Given the description of an element on the screen output the (x, y) to click on. 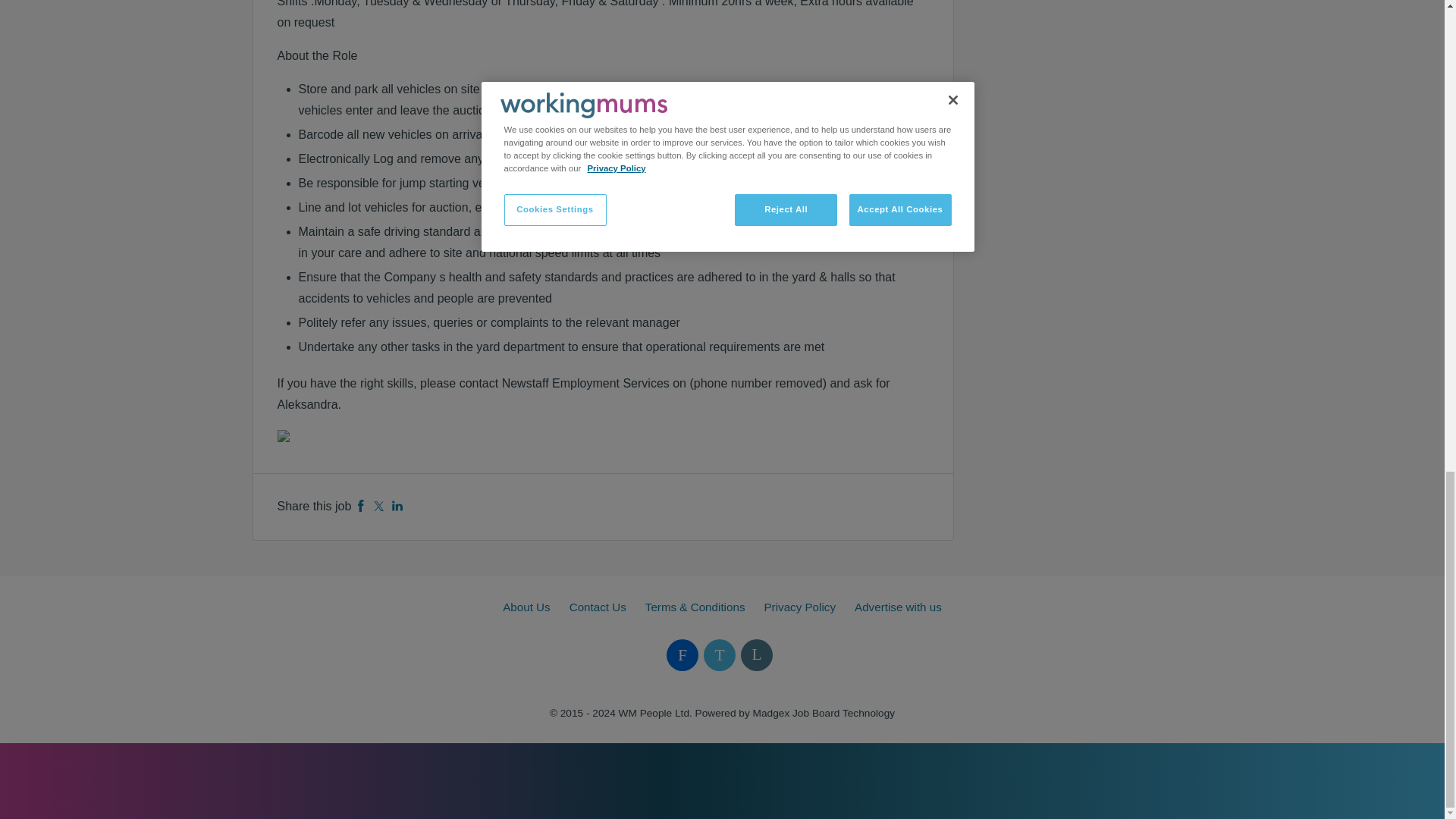
Twitter (378, 505)
Facebook (360, 505)
